Given the description of an element on the screen output the (x, y) to click on. 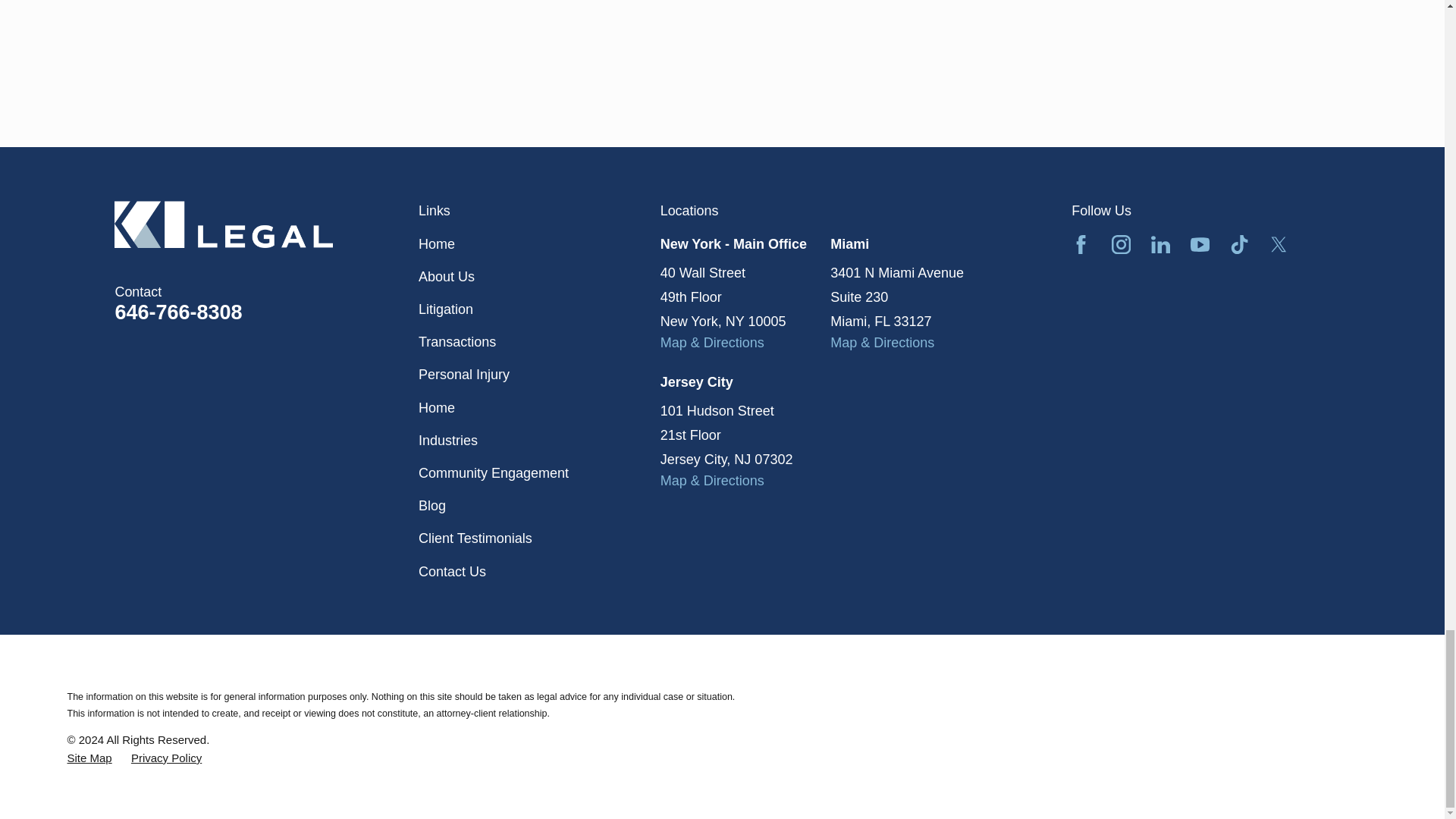
Facebook (1080, 244)
Instagram (1121, 244)
Home (267, 224)
KI Legal (224, 224)
